Given the description of an element on the screen output the (x, y) to click on. 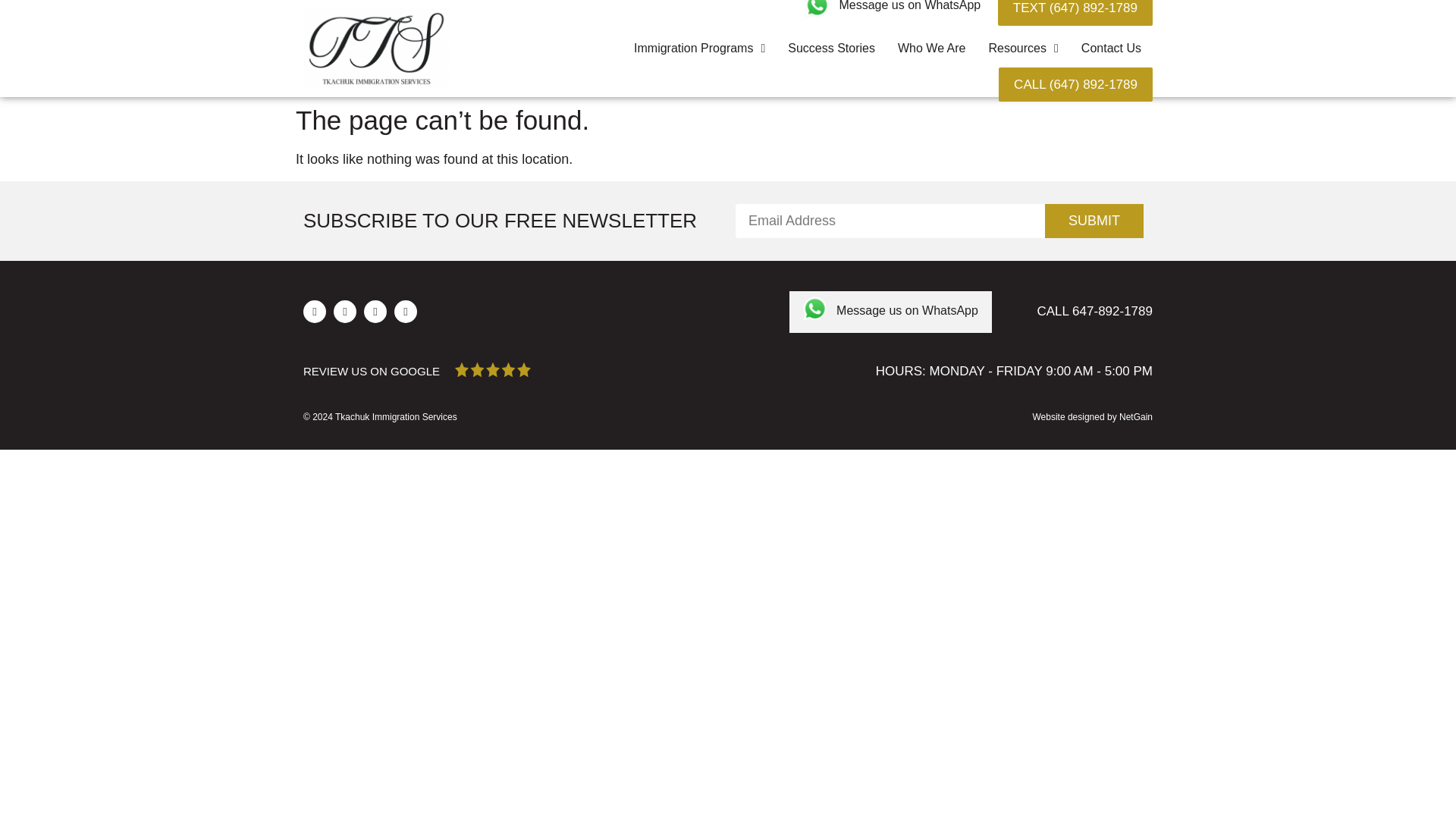
Resources (1023, 48)
Message us on WhatsApp (908, 5)
Immigration Programs (699, 48)
Success Stories (831, 48)
Who We Are (931, 48)
Contact Us (1111, 48)
